Given the description of an element on the screen output the (x, y) to click on. 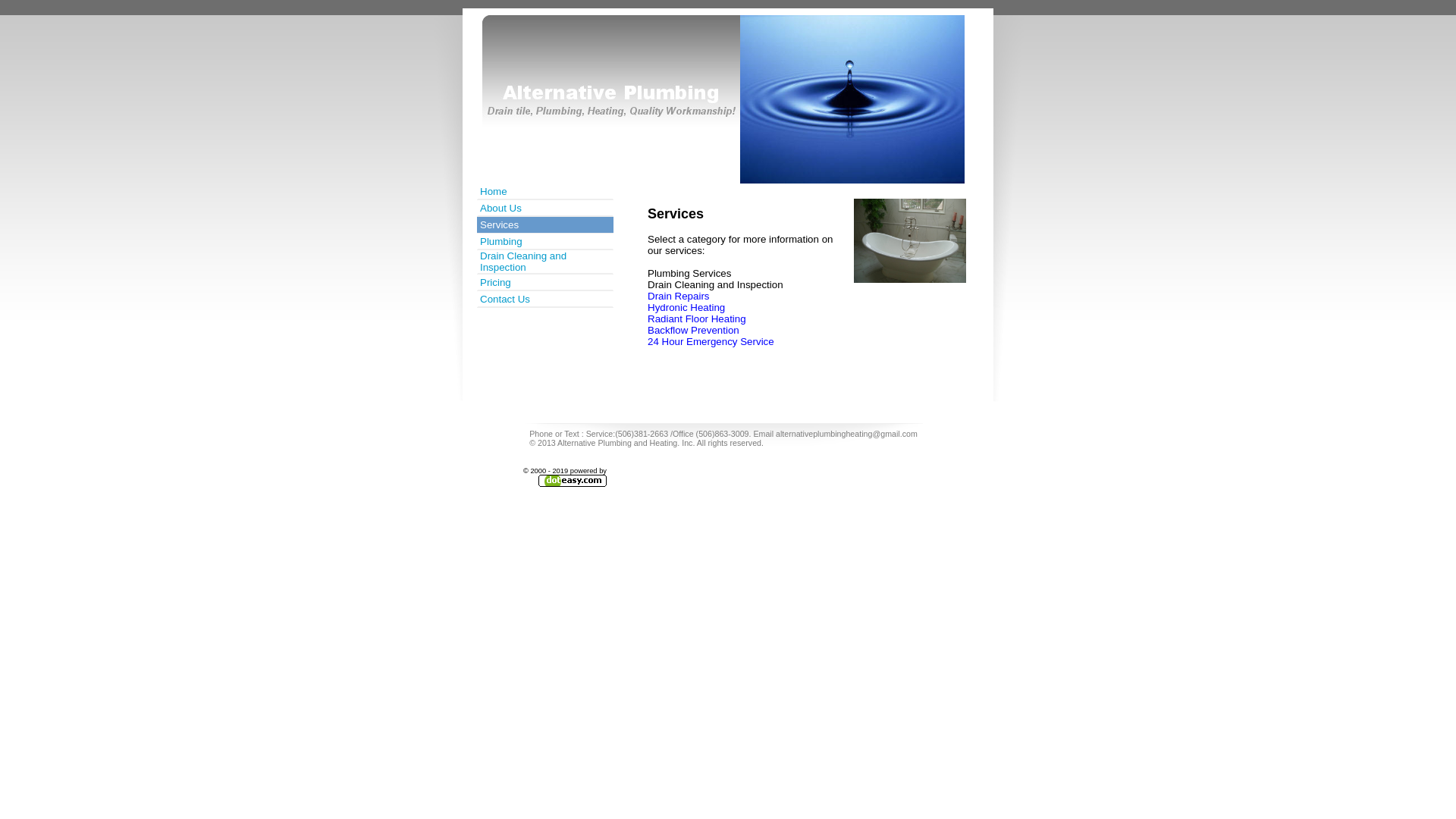
Services Element type: text (499, 224)
Contact Us Element type: text (544, 299)
Hydronic Heating Element type: text (685, 307)
Services Element type: text (544, 224)
Drain Repairs Element type: text (678, 295)
Radiant Floor Heating
Backflow Prevention Element type: text (696, 324)
Pricing Element type: text (495, 281)
Drain Cleaning and Inspection Element type: text (523, 261)
Home Element type: text (544, 191)
Plumbing Services Element type: text (689, 273)
Pricing Element type: text (544, 282)
About Us Element type: text (544, 208)
Drain Cleaning and Inspection Element type: text (544, 261)
Plumbing Element type: text (544, 241)
About Us Element type: text (500, 207)
Home Element type: text (493, 190)
Plumbing Element type: text (501, 240)
24 Hour Emergency Service Element type: text (710, 341)
Contact Us Element type: text (505, 298)
Drain Cleaning and Inspection Element type: text (715, 284)
